Given the description of an element on the screen output the (x, y) to click on. 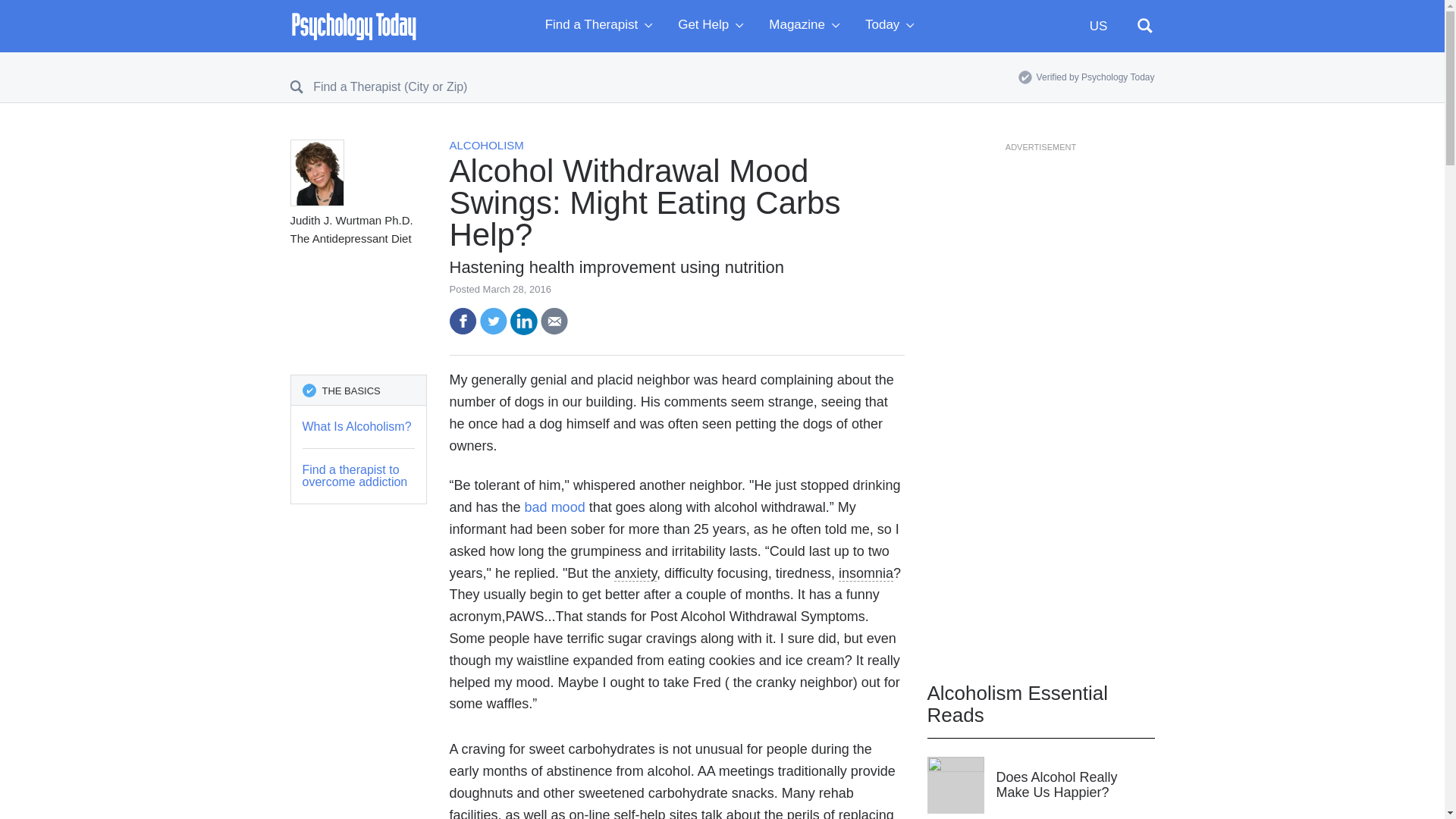
Get Help (714, 25)
Find a Therapist (602, 25)
Psychology Today (352, 25)
